Given the description of an element on the screen output the (x, y) to click on. 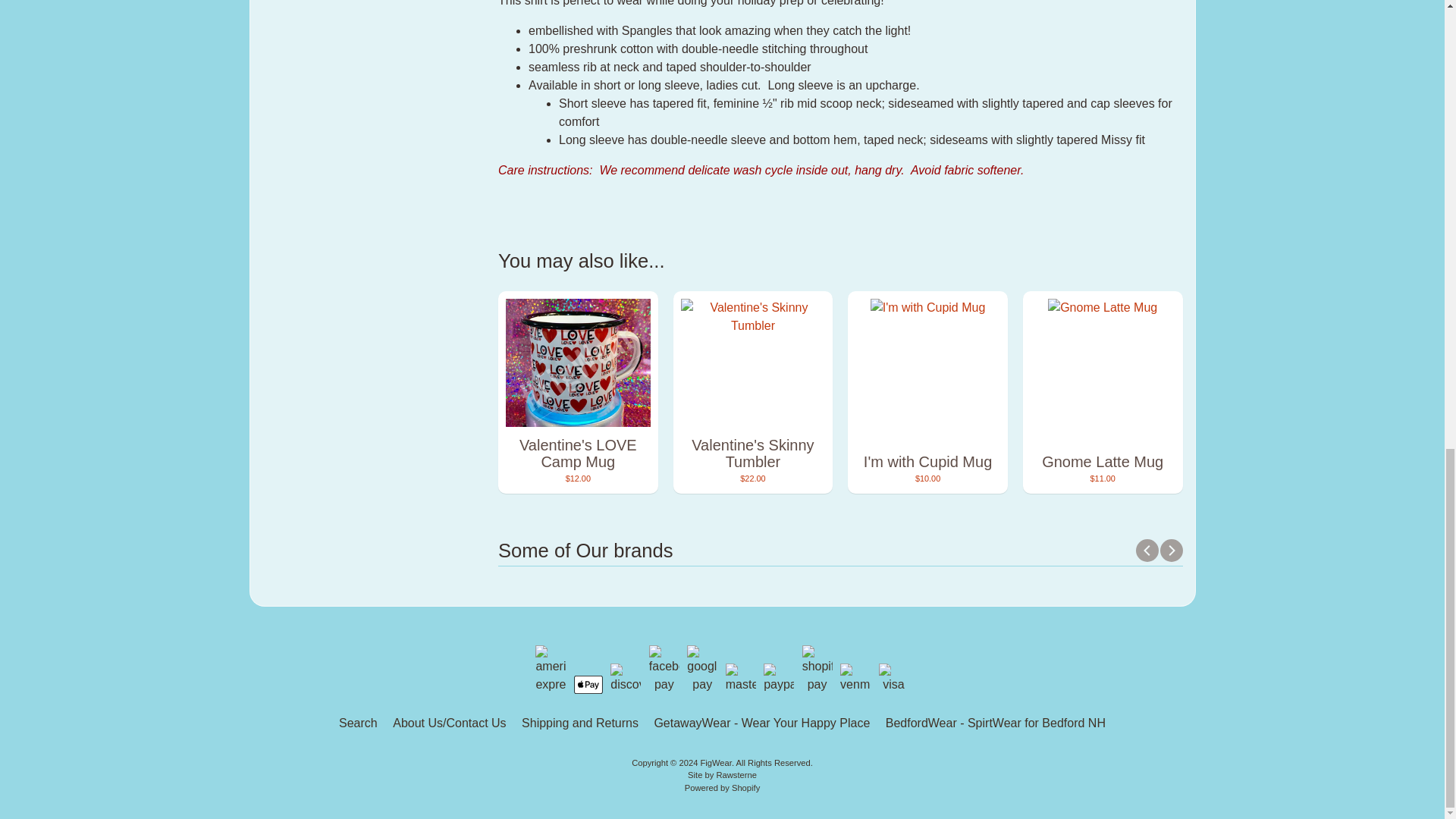
Shopify theme by Rawsterne (722, 774)
Some of Our brands (839, 550)
Some of Our brands (839, 552)
Valentine's LOVE Camp Mug (577, 392)
Valentine's Skinny Tumbler (752, 392)
I'm with Cupid Mug (927, 392)
Gnome Latte Mug (1102, 392)
